Given the description of an element on the screen output the (x, y) to click on. 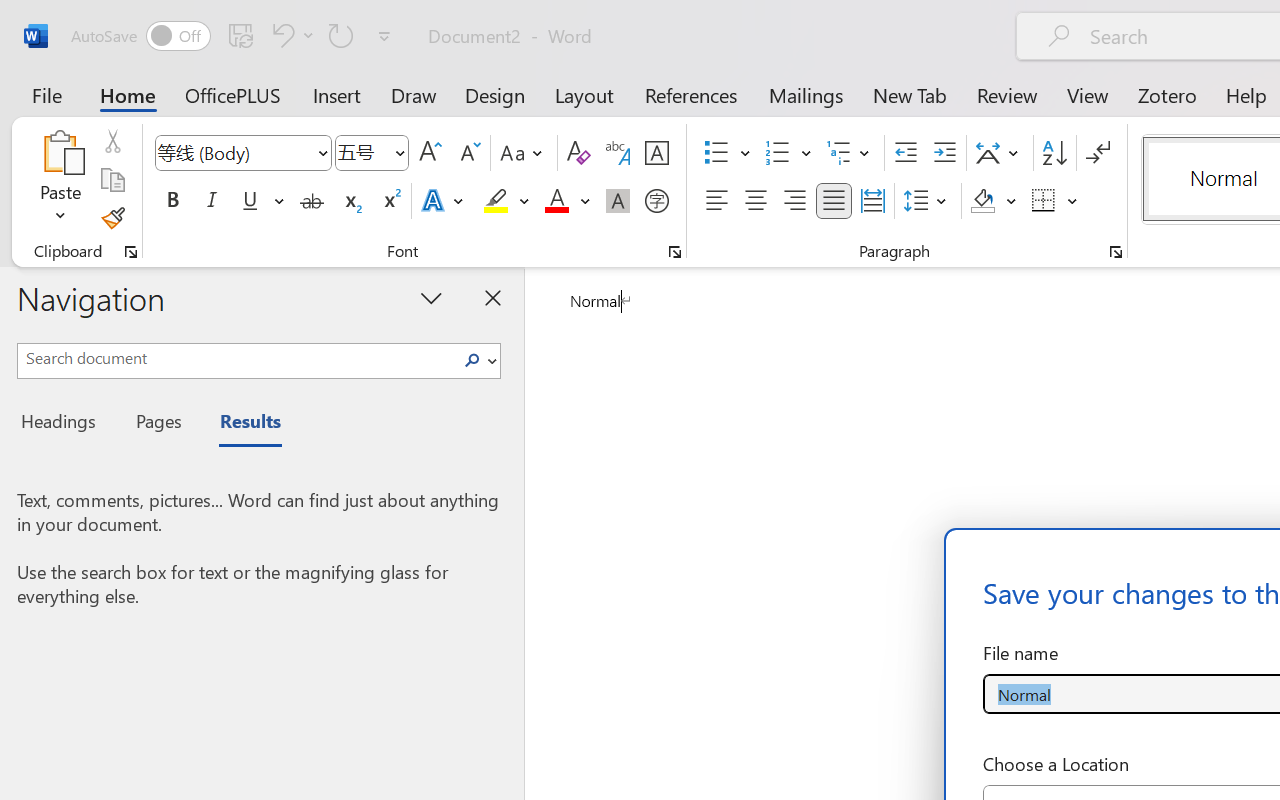
Headings (64, 424)
Shrink Font (468, 153)
Format Painter (112, 218)
Text Highlight Color Yellow (495, 201)
Superscript (390, 201)
Draw (413, 94)
Change Case (524, 153)
Search (478, 360)
Center (756, 201)
Distributed (872, 201)
Design (495, 94)
Increase Indent (944, 153)
Mailings (806, 94)
Multilevel List (850, 153)
